Given the description of an element on the screen output the (x, y) to click on. 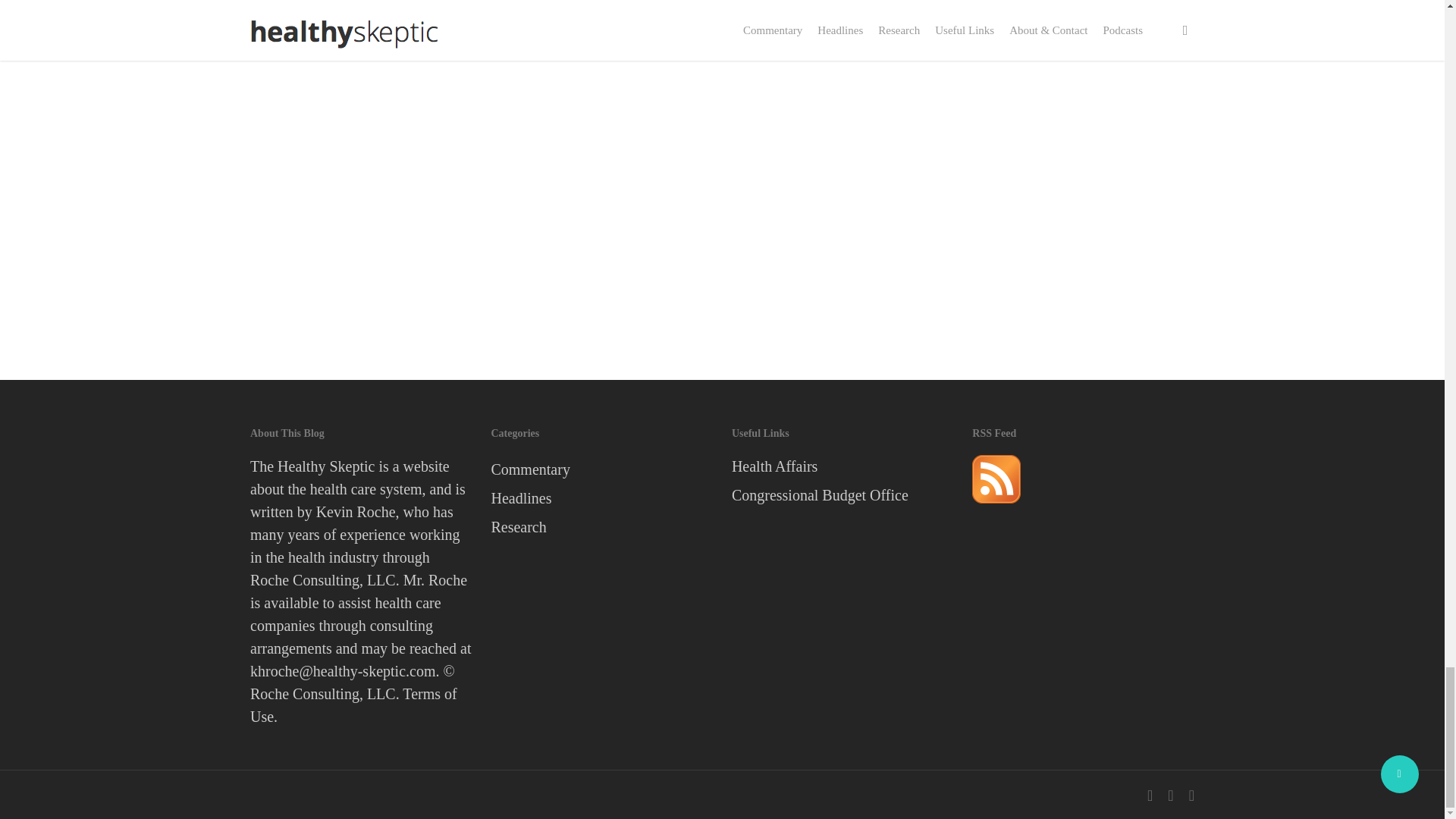
Subscribe to posts (996, 509)
